Given the description of an element on the screen output the (x, y) to click on. 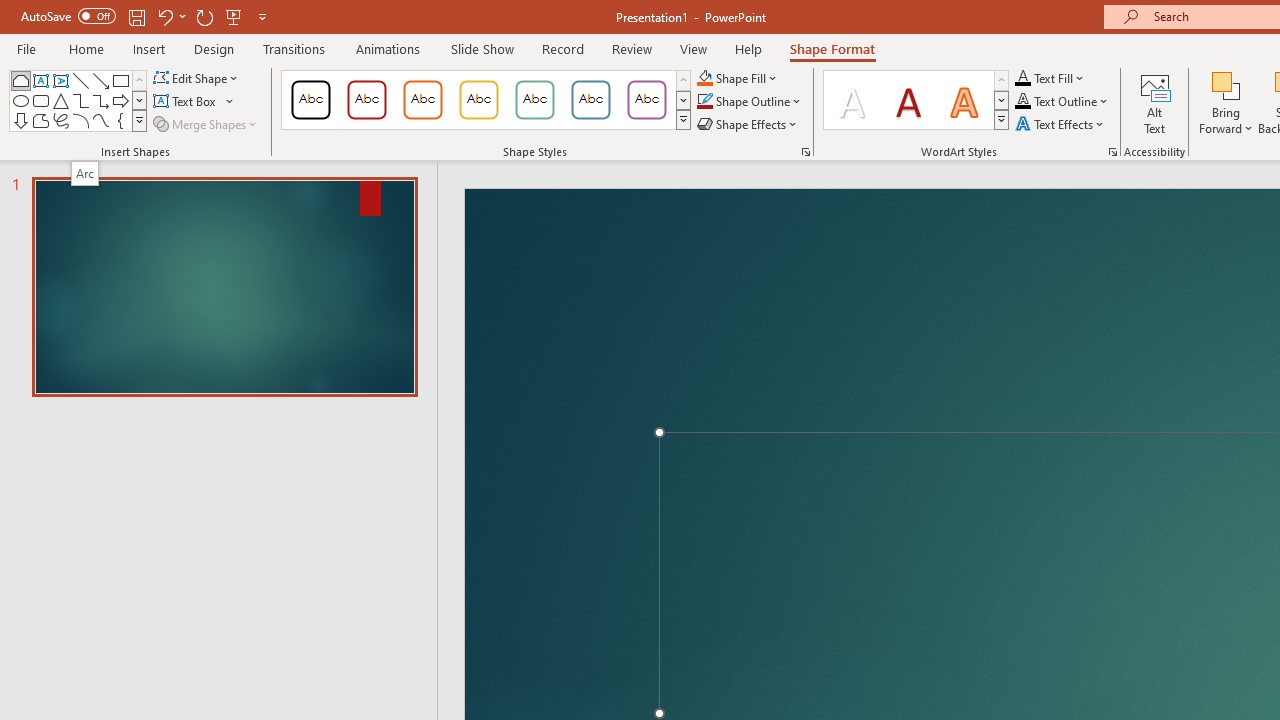
Bring Forward (1225, 84)
Edit Shape (196, 78)
